Given the description of an element on the screen output the (x, y) to click on. 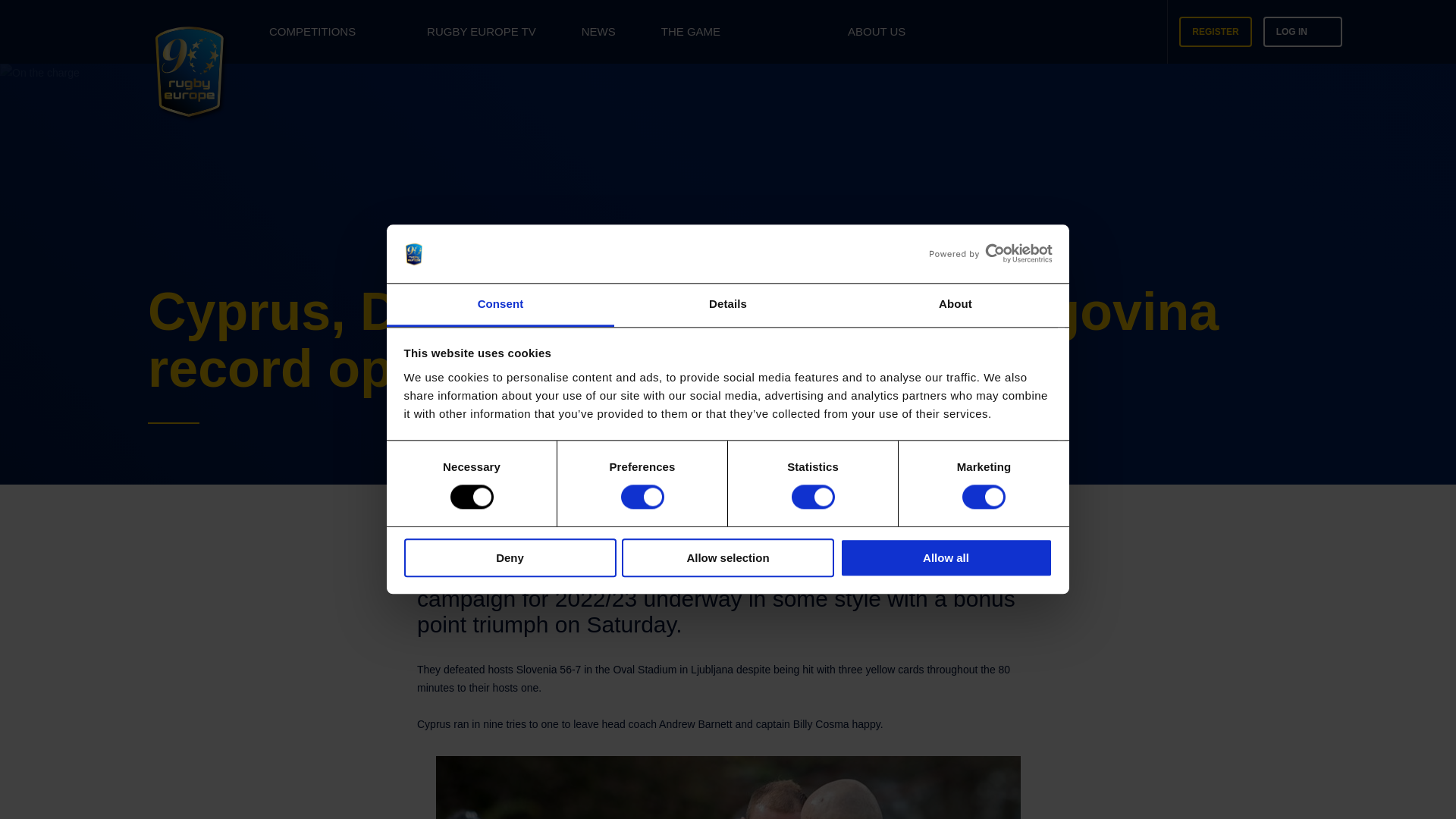
About (954, 304)
Consent (500, 304)
Details (727, 304)
